Given the description of an element on the screen output the (x, y) to click on. 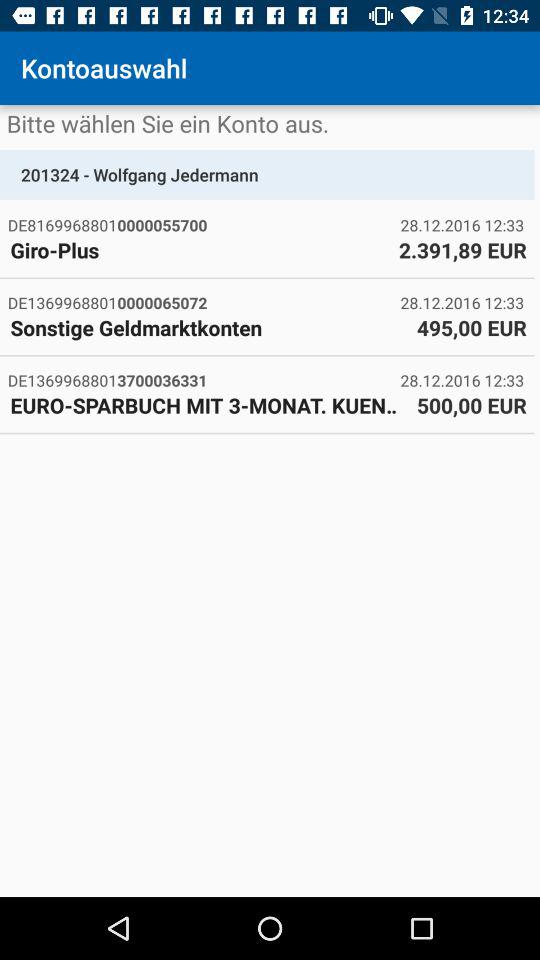
tap the 2 391 89 icon (462, 249)
